Given the description of an element on the screen output the (x, y) to click on. 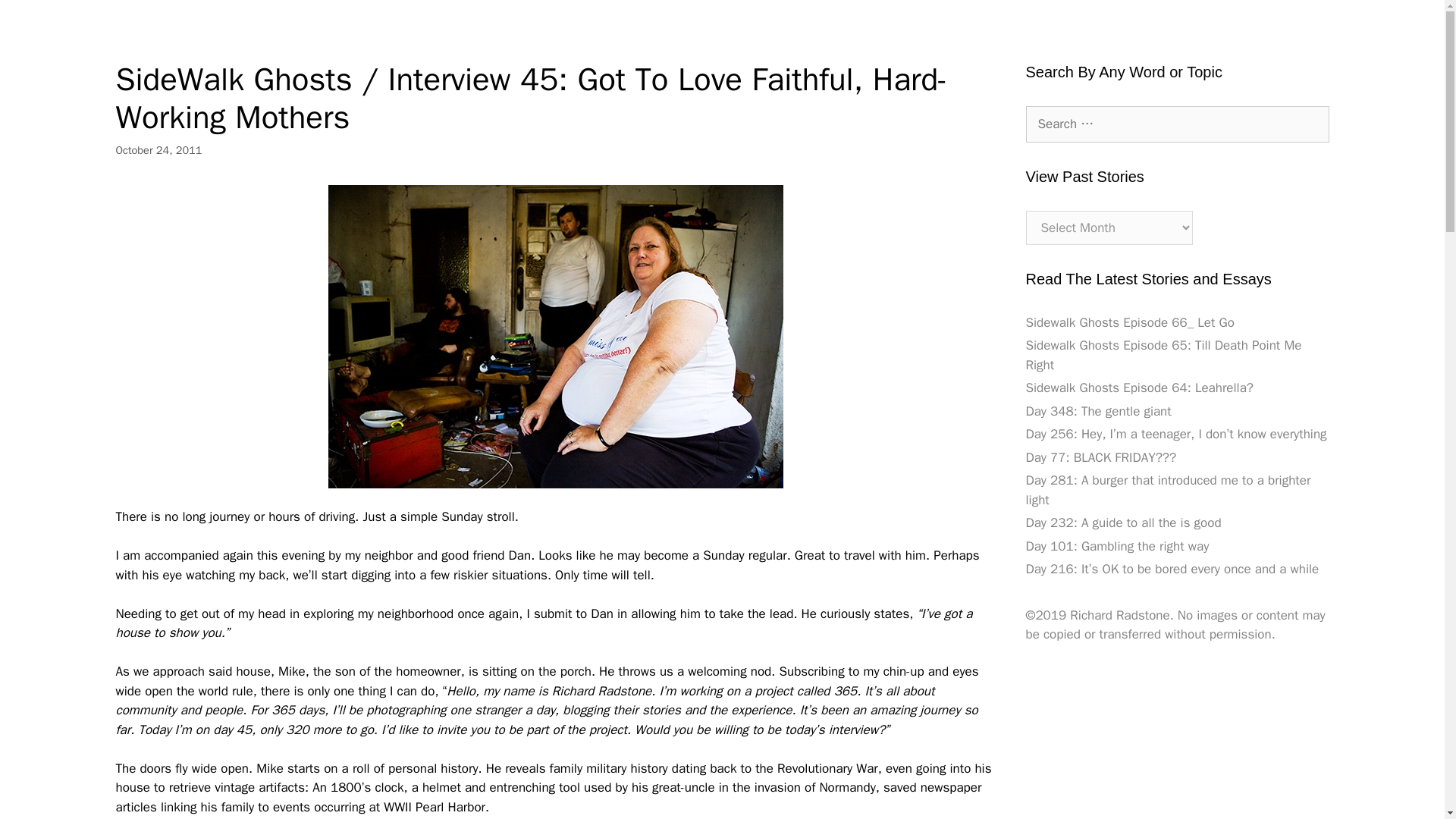
Search for: (1176, 124)
Day 77: BLACK FRIDAY??? (1100, 456)
Day 232: A guide to all the is good (1123, 522)
Sidewalk Ghosts Episode 65: Till Death Point Me Right (1163, 355)
Day 348: The gentle giant (1097, 411)
Day 281: A burger that introduced me to a brighter light (1167, 489)
Day 101: Gambling the right way (1116, 546)
Search (35, 18)
Sidewalk Ghosts Episode 64: Leahrella? (1138, 387)
